Given the description of an element on the screen output the (x, y) to click on. 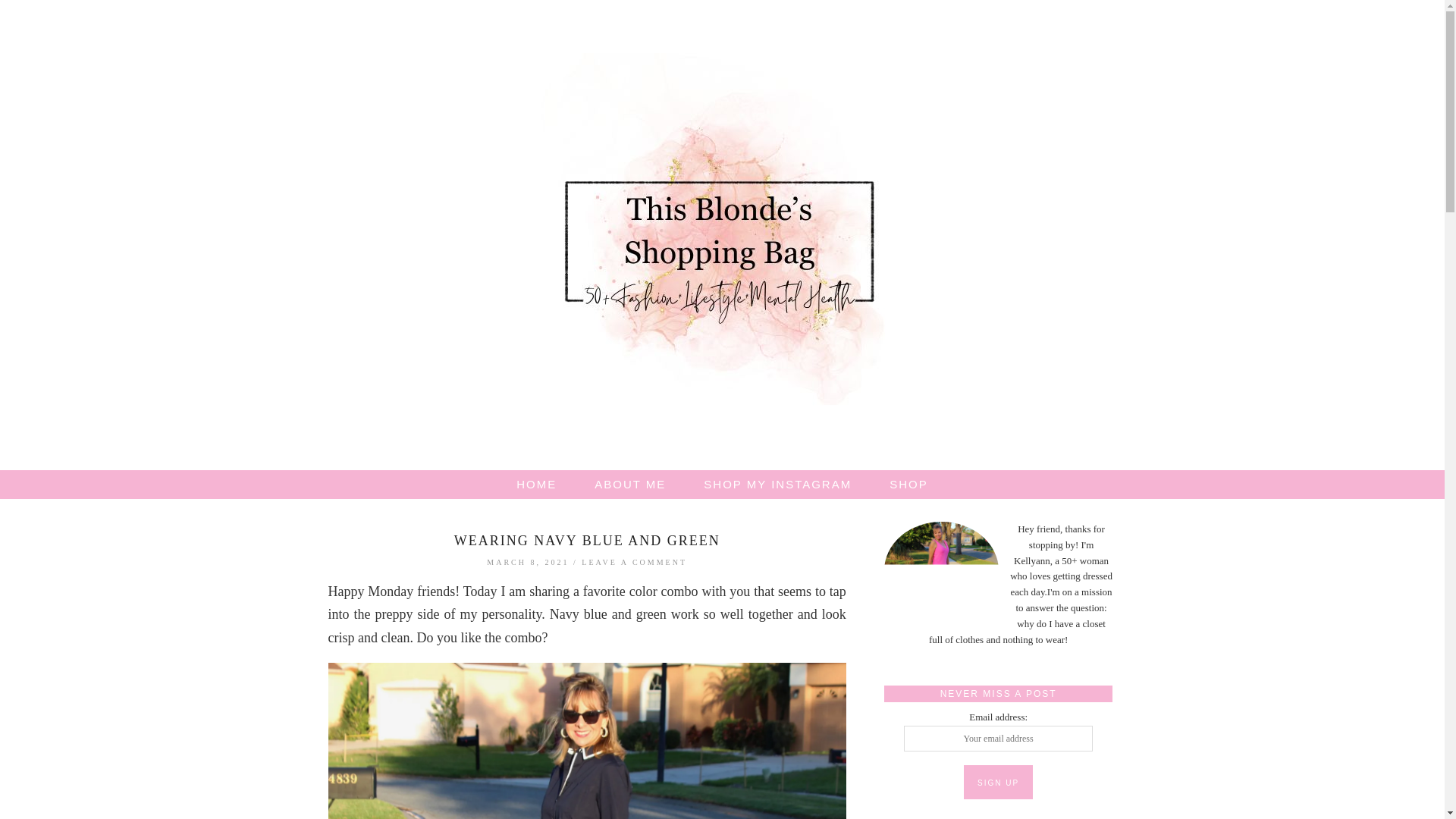
SHOP MY INSTAGRAM (777, 484)
SHOP (908, 484)
LEAVE A COMMENT (633, 561)
Sign up (997, 781)
HOME (536, 484)
ABOUT ME (629, 484)
